Given the description of an element on the screen output the (x, y) to click on. 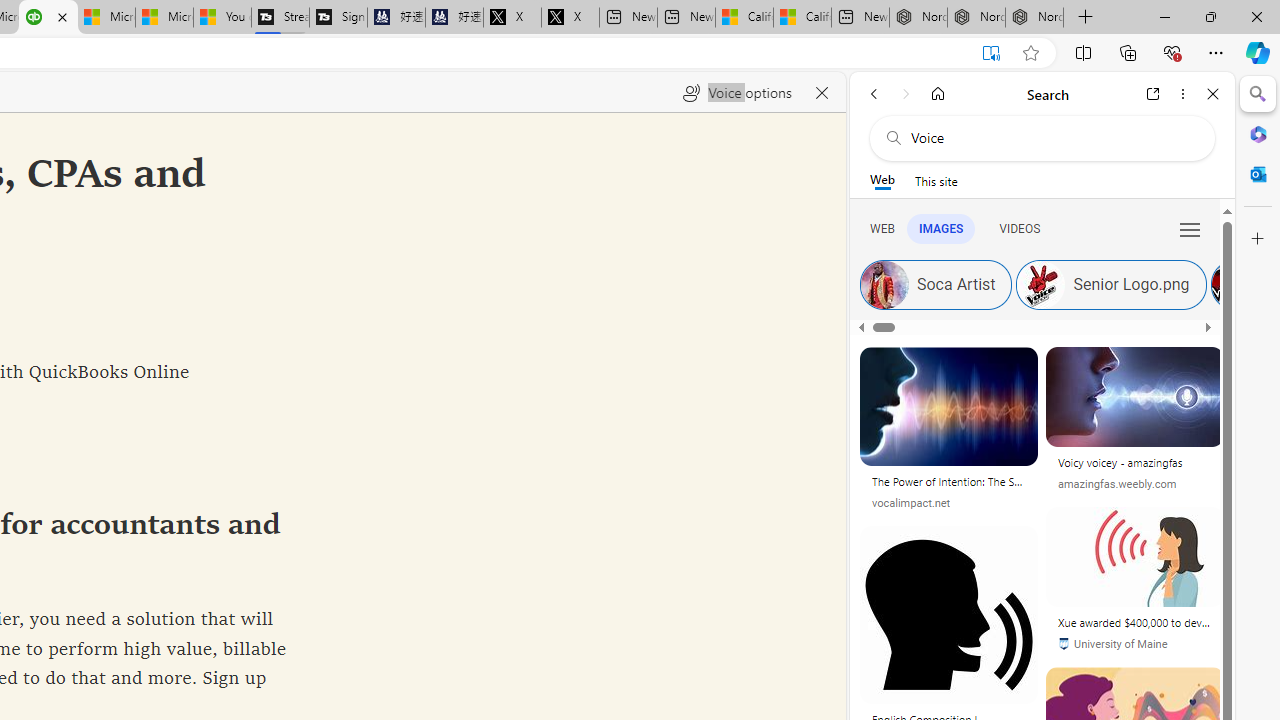
WEB (882, 228)
Voicy voicey - amazingfasamazingfas.weebly.com (1134, 426)
amazingfas.weebly.com (1117, 484)
Class: b_serphb (1190, 229)
IMAGES (940, 228)
